Given the description of an element on the screen output the (x, y) to click on. 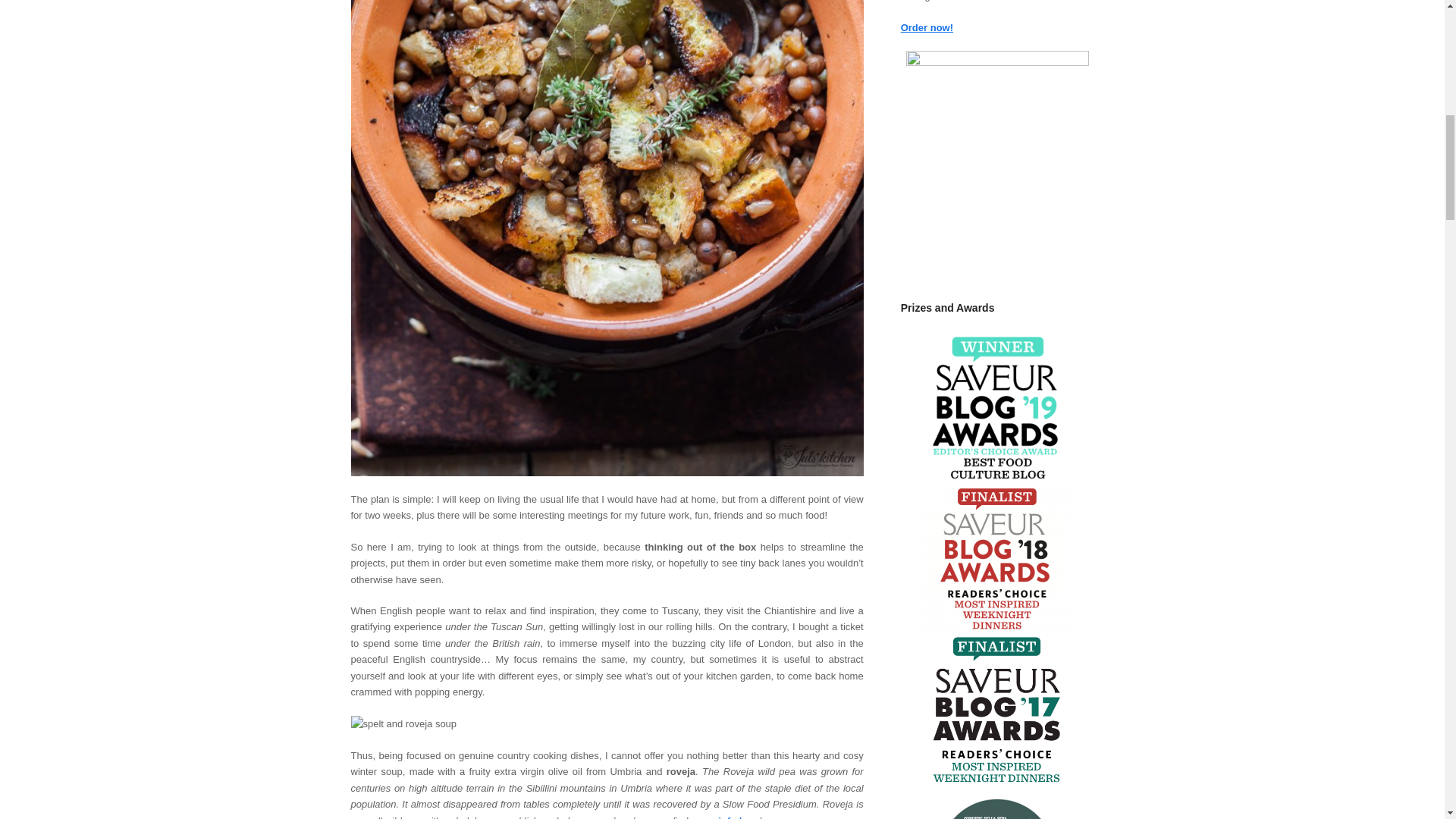
spelt and roveja soup (403, 723)
more info here (725, 816)
